Given the description of an element on the screen output the (x, y) to click on. 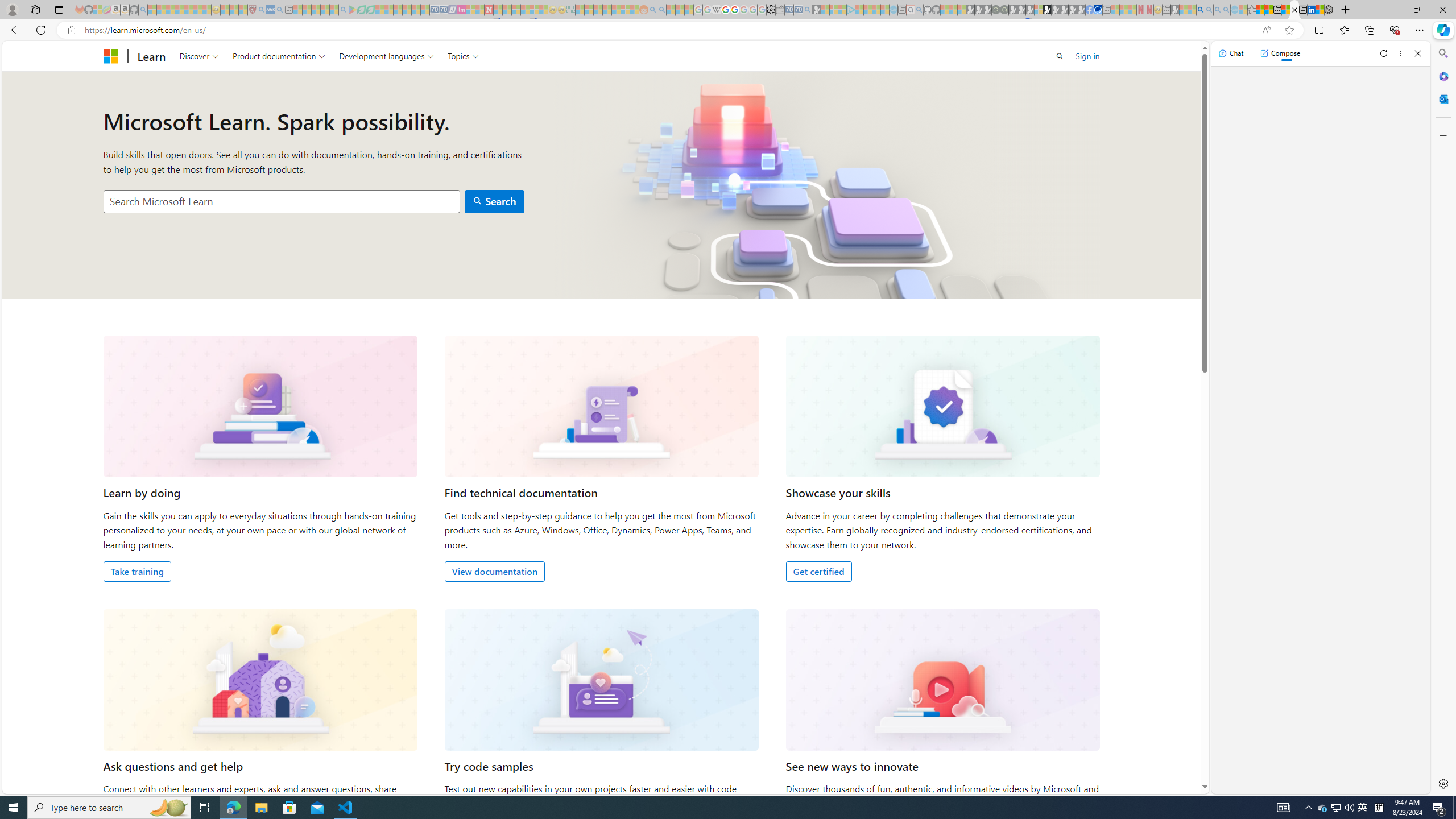
Nordace | Facebook - Sleeping (1089, 9)
Bing AI - Search (1200, 9)
View documentation (494, 571)
Microsoft Learn: Build skills that open doors in your career (1294, 9)
Take training (137, 571)
